Given the description of an element on the screen output the (x, y) to click on. 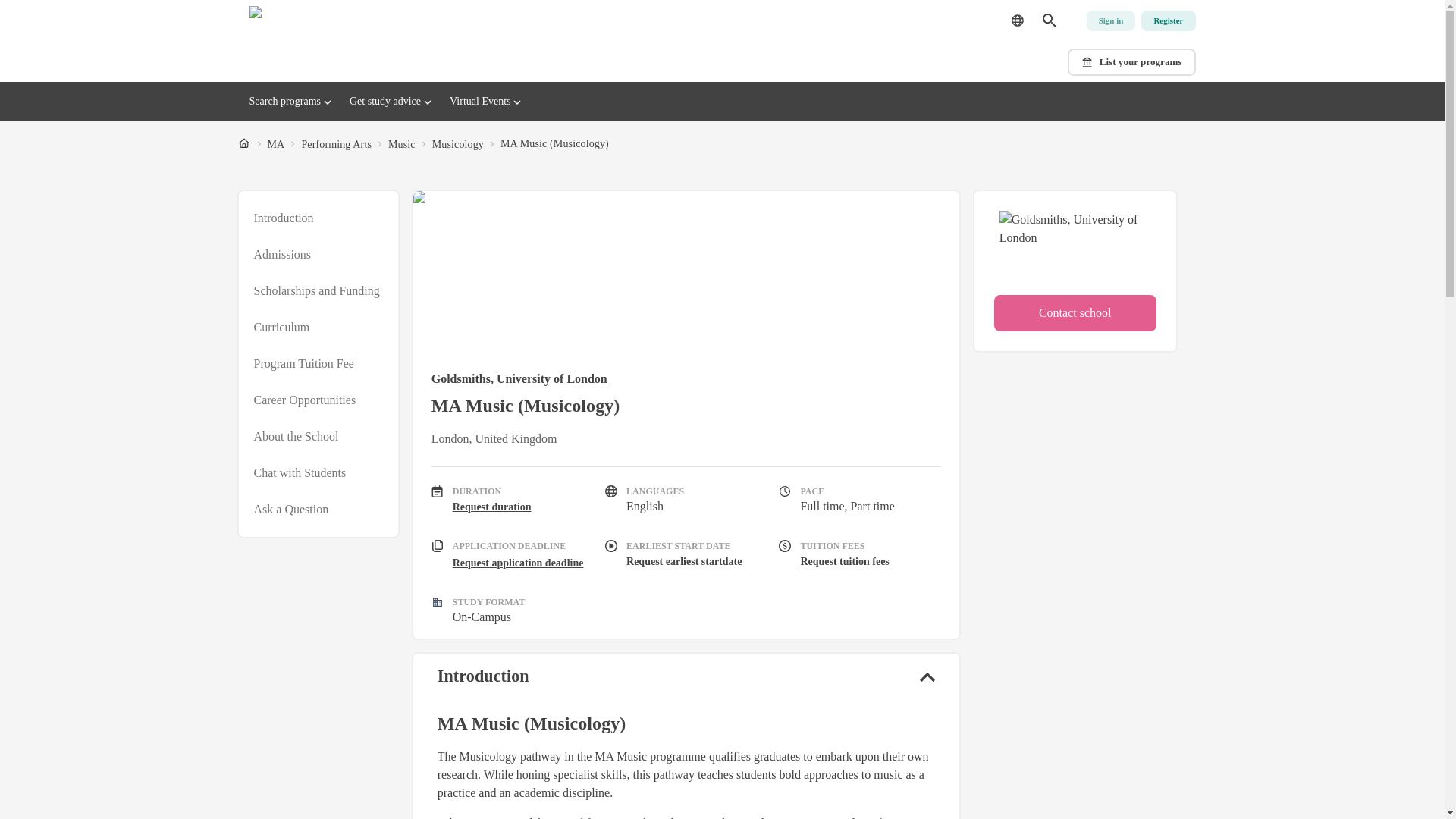
Contact school (1075, 312)
Musicology (457, 144)
Curriculum (280, 327)
Ask a Question (291, 509)
Performing Arts (336, 144)
About the School (295, 436)
List your programs (1131, 62)
Introduction (283, 218)
Chat with Students (299, 473)
Sign in (1110, 20)
Register (1168, 20)
Music (401, 144)
Goldsmiths, University of London (685, 379)
Career Opportunities (304, 400)
